Given the description of an element on the screen output the (x, y) to click on. 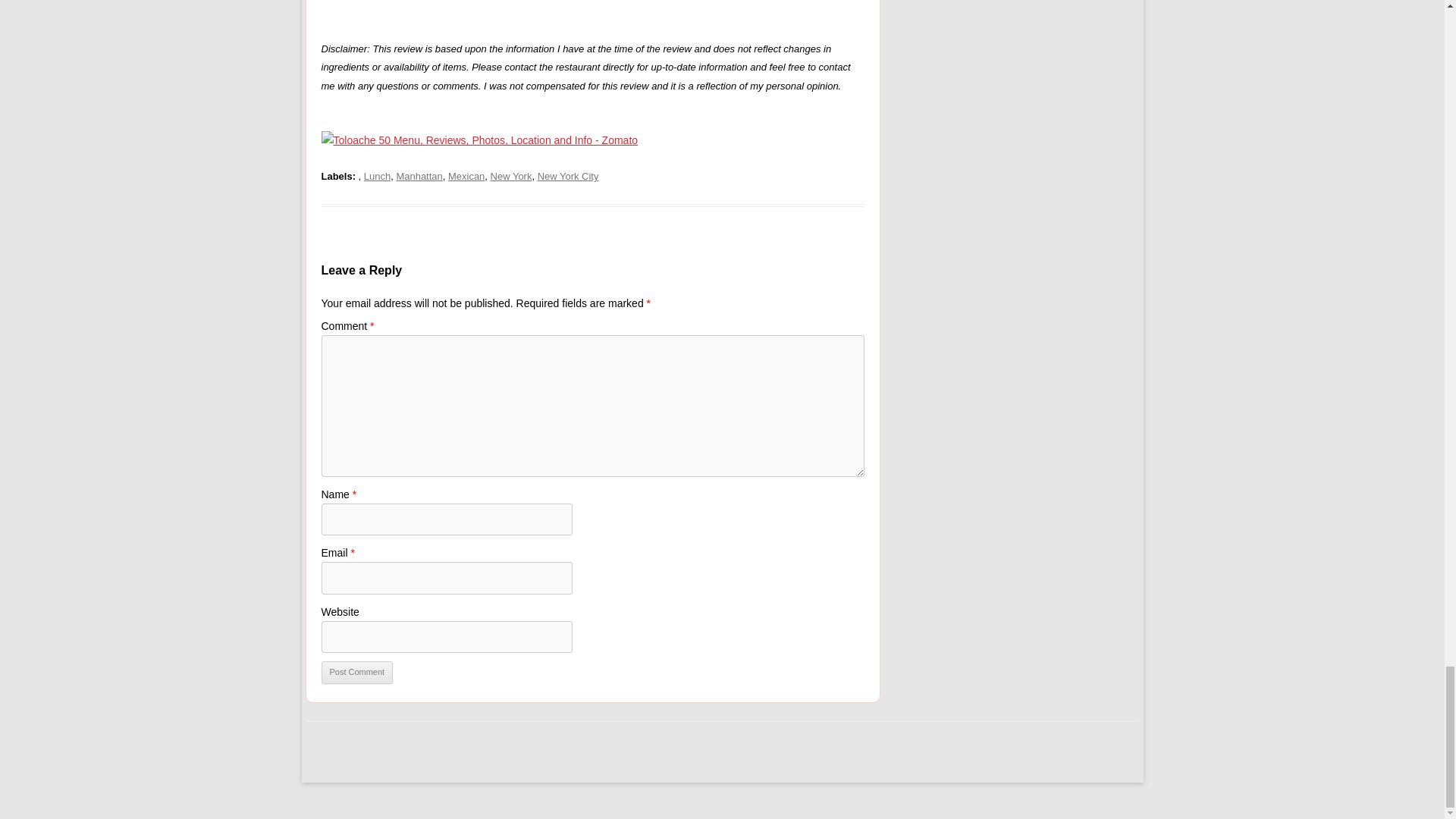
Manhattan (419, 175)
Lunch (377, 175)
Mexican (466, 175)
New York (511, 175)
New York City (567, 175)
Post Comment (357, 671)
Post Comment (357, 671)
